Given the description of an element on the screen output the (x, y) to click on. 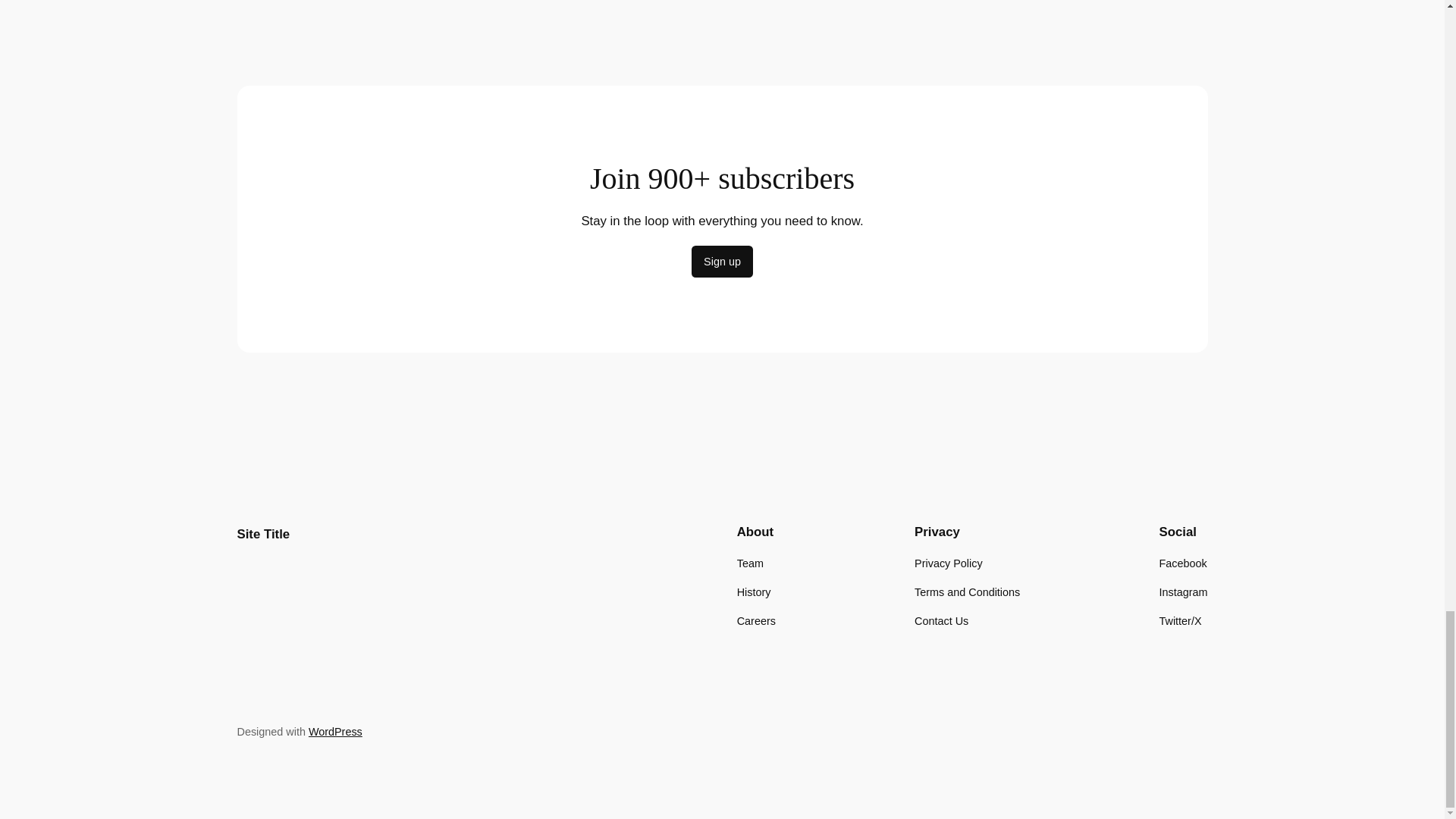
WordPress (335, 731)
Contact Us (941, 620)
History (753, 591)
Site Title (262, 534)
Privacy Policy (948, 563)
Sign up (721, 261)
Instagram (1182, 591)
Terms and Conditions (967, 591)
Facebook (1182, 563)
Careers (756, 620)
Team (749, 563)
